Given the description of an element on the screen output the (x, y) to click on. 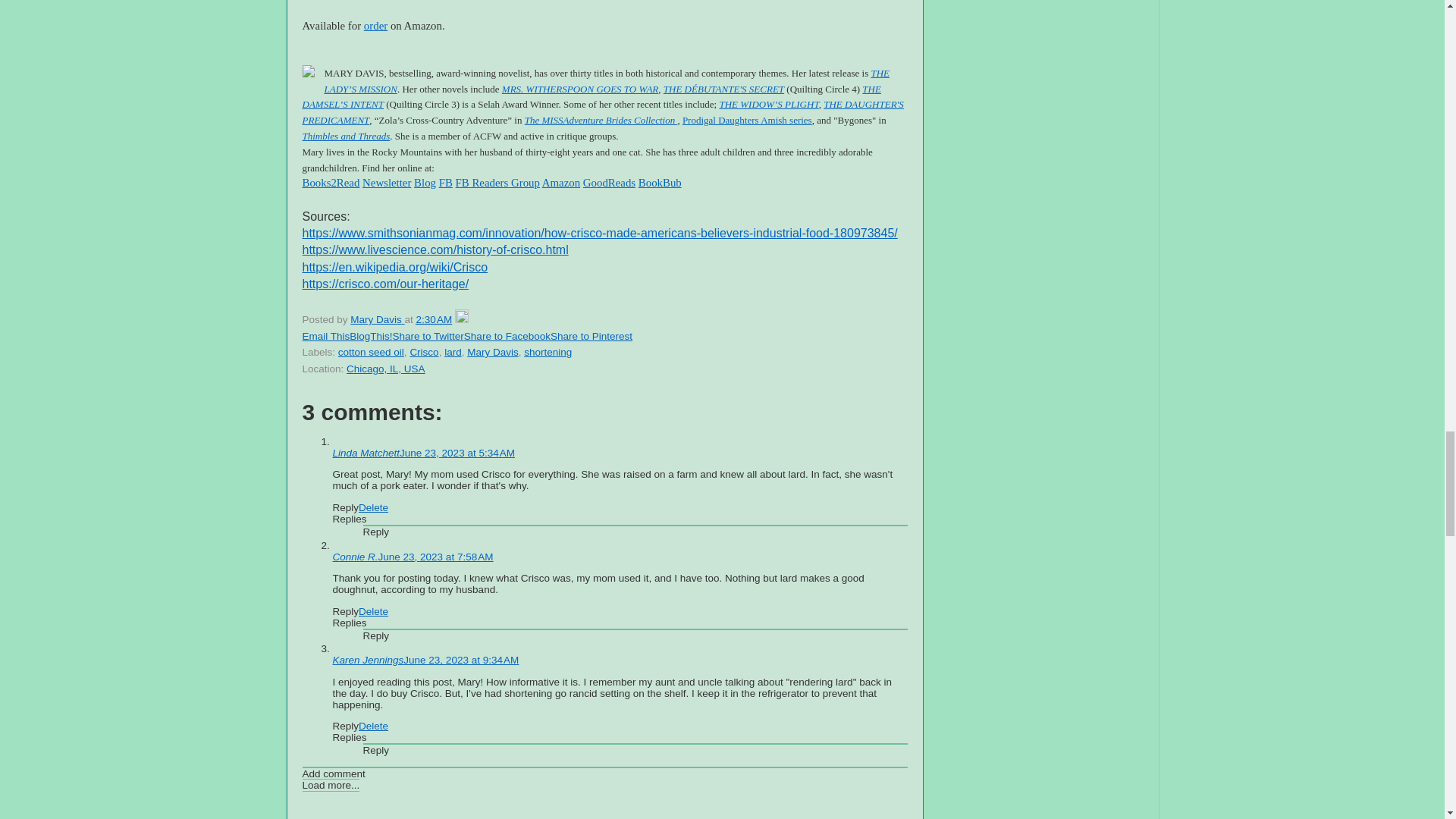
BookBub (660, 182)
Share to Facebook (507, 336)
Newsletter (386, 182)
Blog (424, 182)
GoodReads (608, 182)
order (375, 25)
Email This (325, 336)
Thimbles and Threads (345, 135)
FB (445, 182)
Amazon (560, 182)
MRS. WITHERSPOON GOES TO WAR (580, 89)
Books2Read (330, 182)
FB Readers Group (497, 182)
The MISSAdventure Brides Collection (601, 120)
Share to Twitter (428, 336)
